Given the description of an element on the screen output the (x, y) to click on. 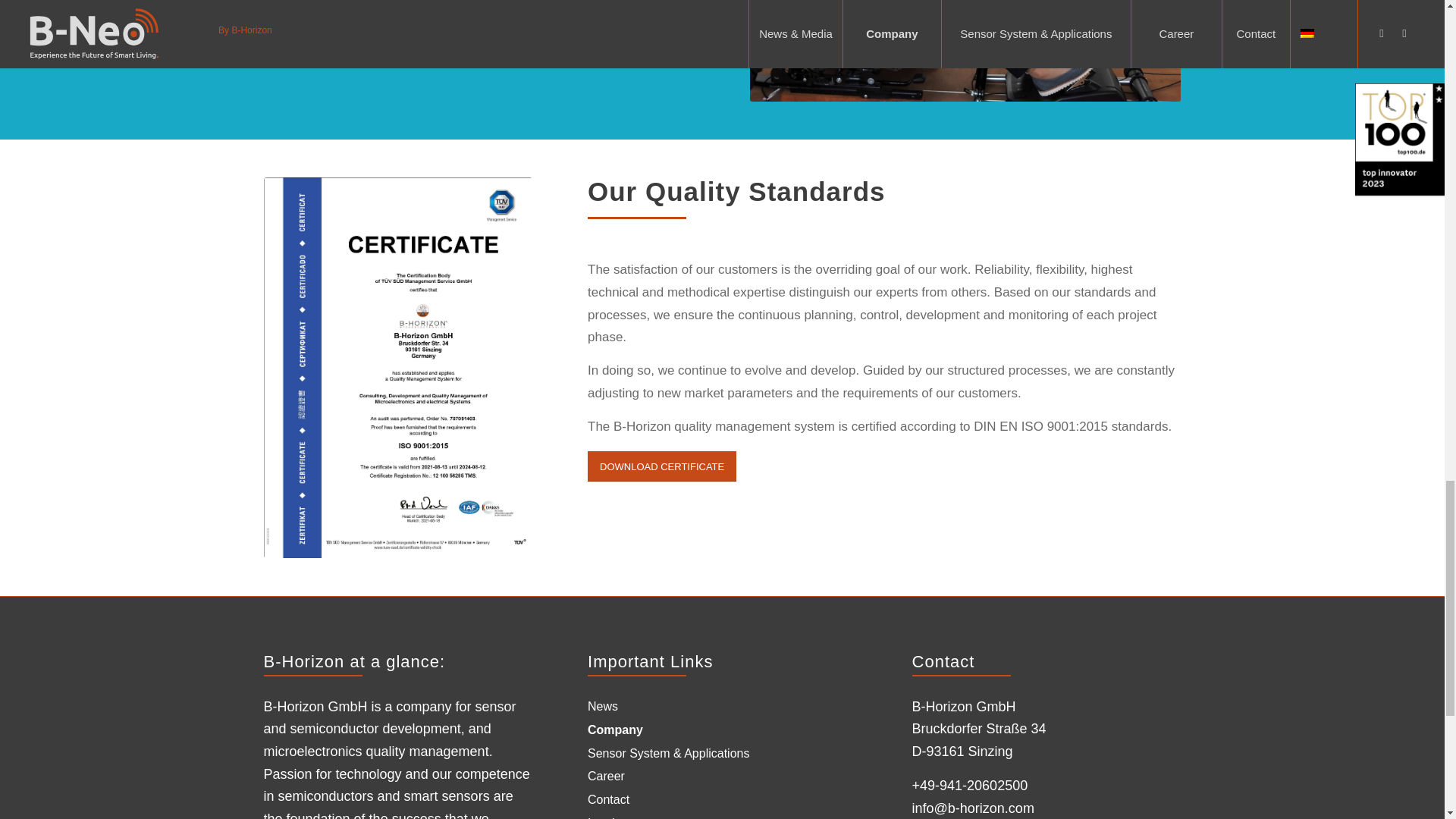
B-Neo all-new smart sensor technology (964, 50)
Career (606, 776)
News (602, 706)
Company (617, 730)
Imprint (606, 816)
DOWNLOAD CERTIFICATE (662, 466)
Contact (608, 799)
